Given the description of an element on the screen output the (x, y) to click on. 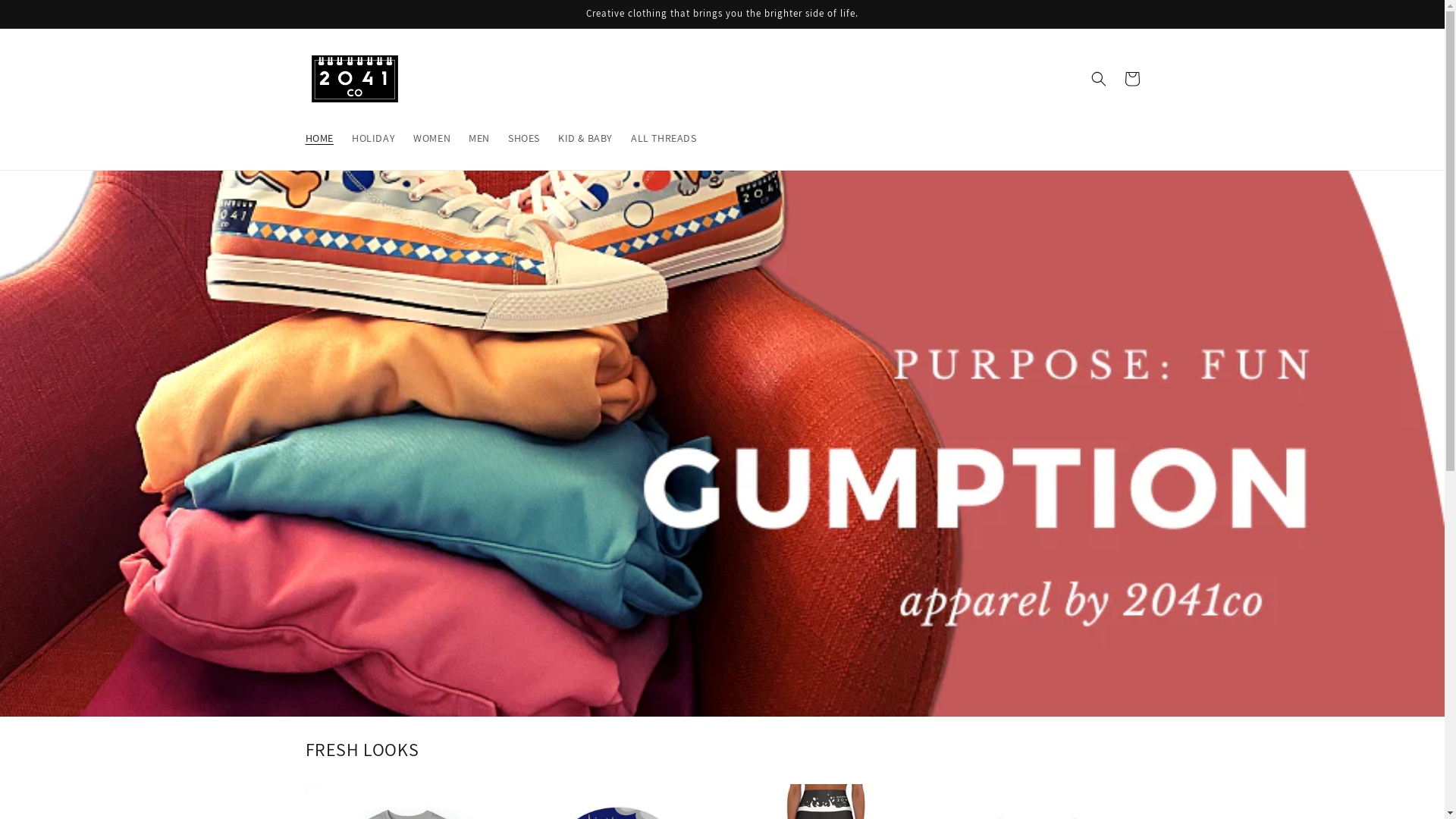
ALL THREADS Element type: text (663, 137)
WOMEN Element type: text (431, 137)
Cart Element type: text (1131, 78)
SHOES Element type: text (523, 137)
HOLIDAY Element type: text (373, 137)
MEN Element type: text (478, 137)
KID & BABY Element type: text (585, 137)
HOME Element type: text (318, 137)
